Given the description of an element on the screen output the (x, y) to click on. 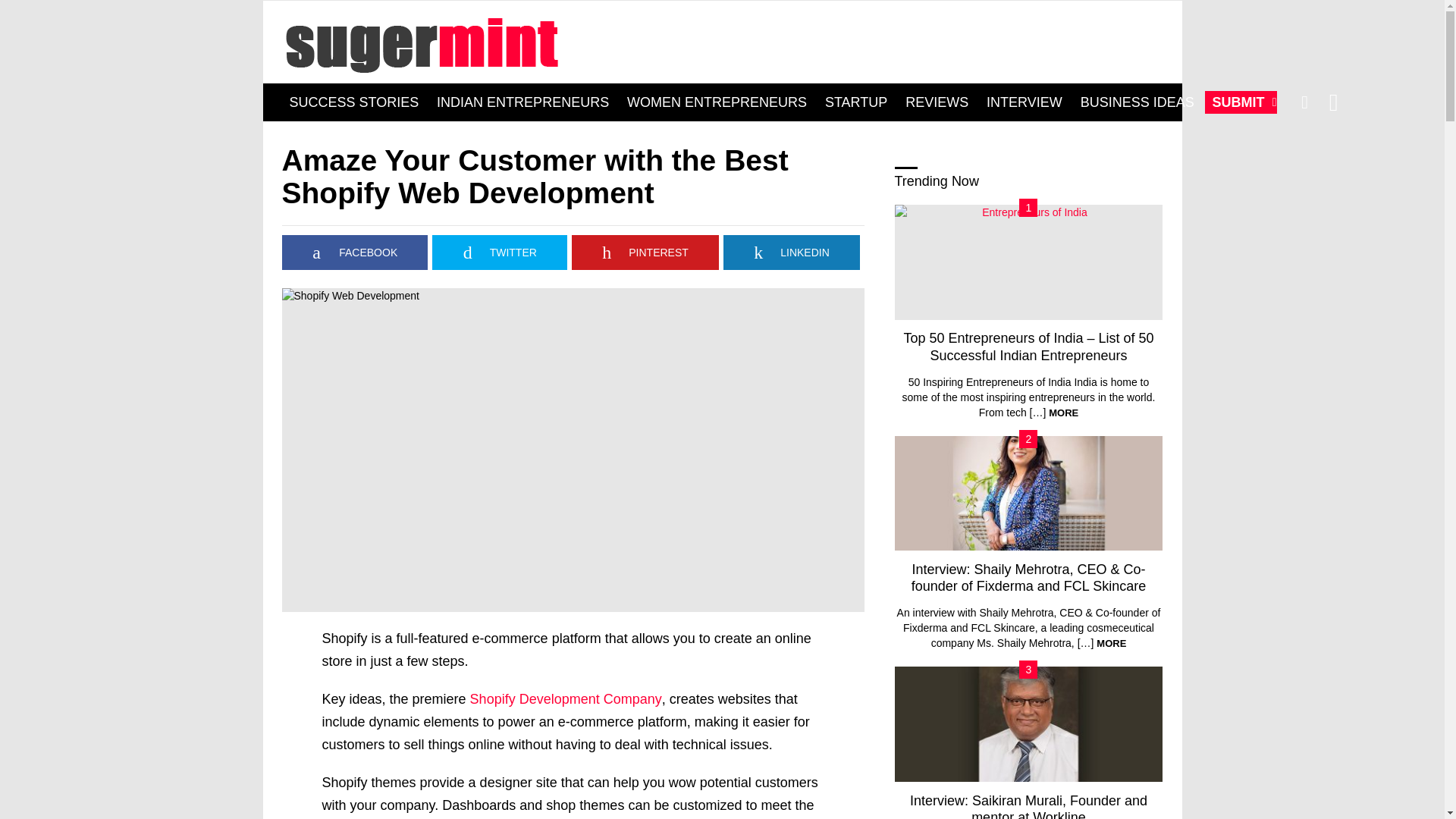
BUSINESS IDEAS (1137, 101)
LINKEDIN (791, 252)
REVIEWS (936, 101)
INDIAN ENTREPRENEURS (522, 101)
FACEBOOK (355, 252)
SUCCESS STORIES (354, 101)
STARTUP (855, 101)
SUBMIT (1240, 101)
PINTEREST (645, 252)
INTERVIEW (1024, 101)
Shopify Development Company (566, 698)
TWITTER (499, 252)
WOMEN ENTREPRENEURS (716, 101)
